Given the description of an element on the screen output the (x, y) to click on. 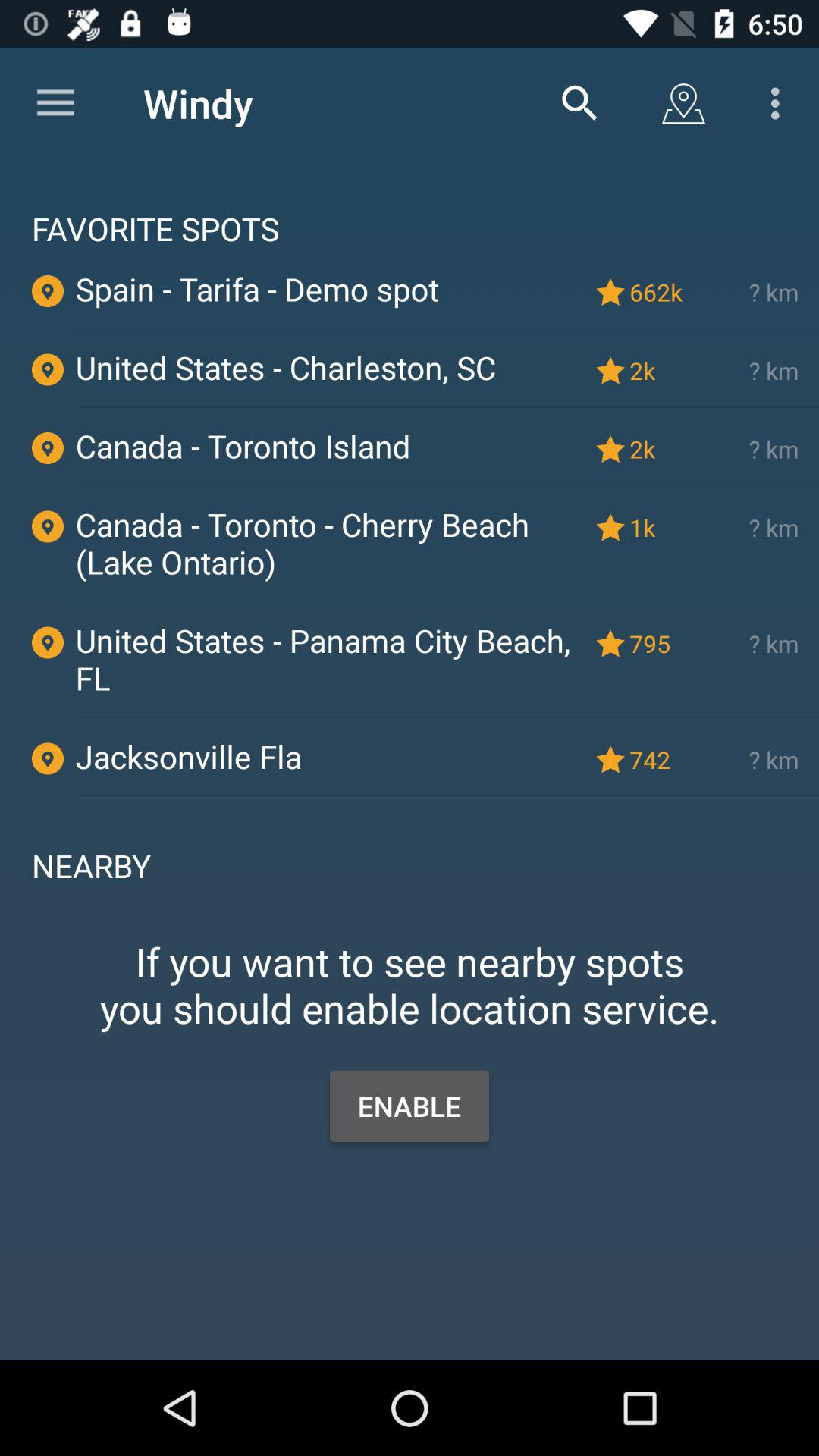
turn off if you want icon (409, 960)
